Given the description of an element on the screen output the (x, y) to click on. 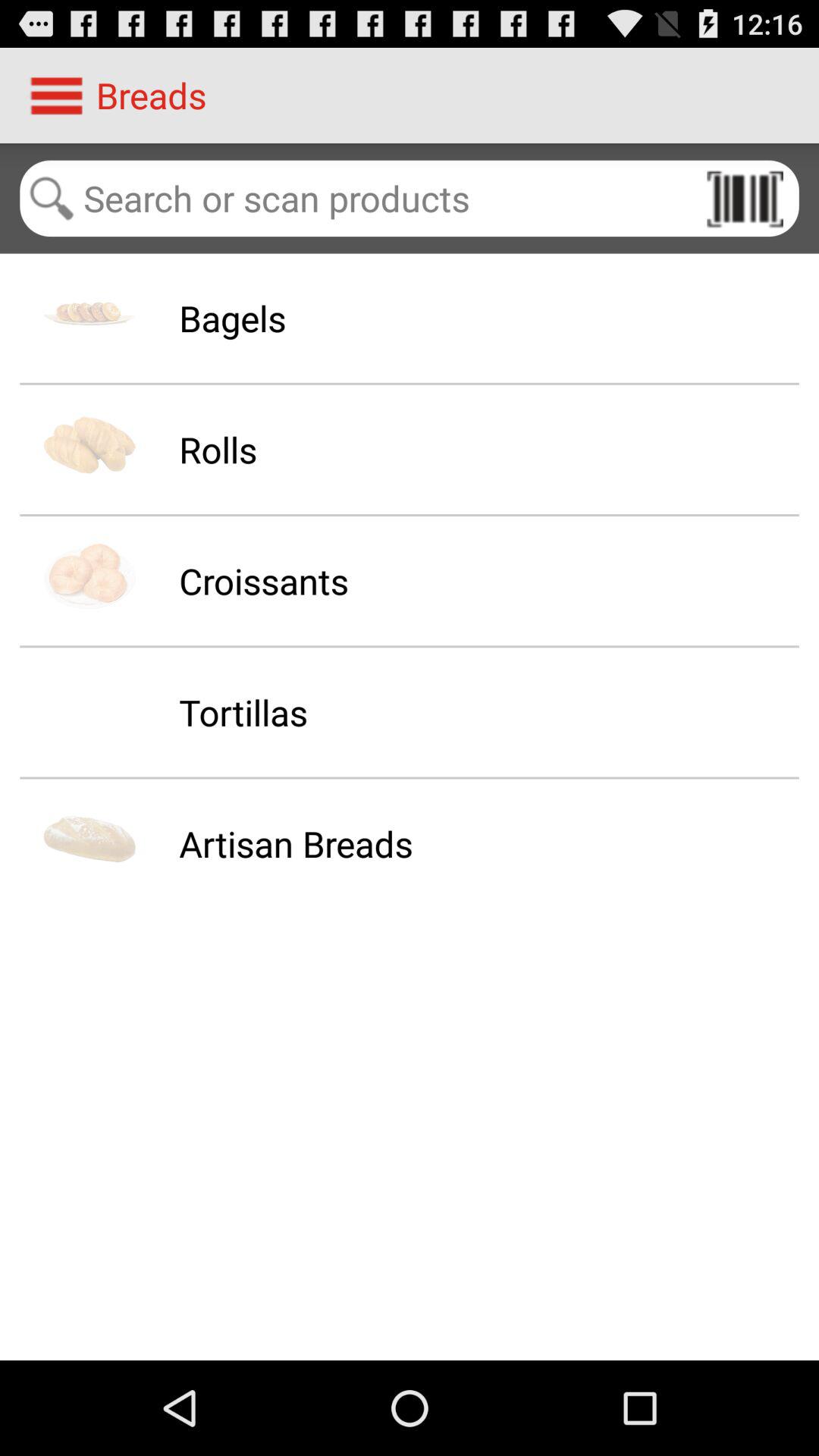
turn on bagels (232, 317)
